Given the description of an element on the screen output the (x, y) to click on. 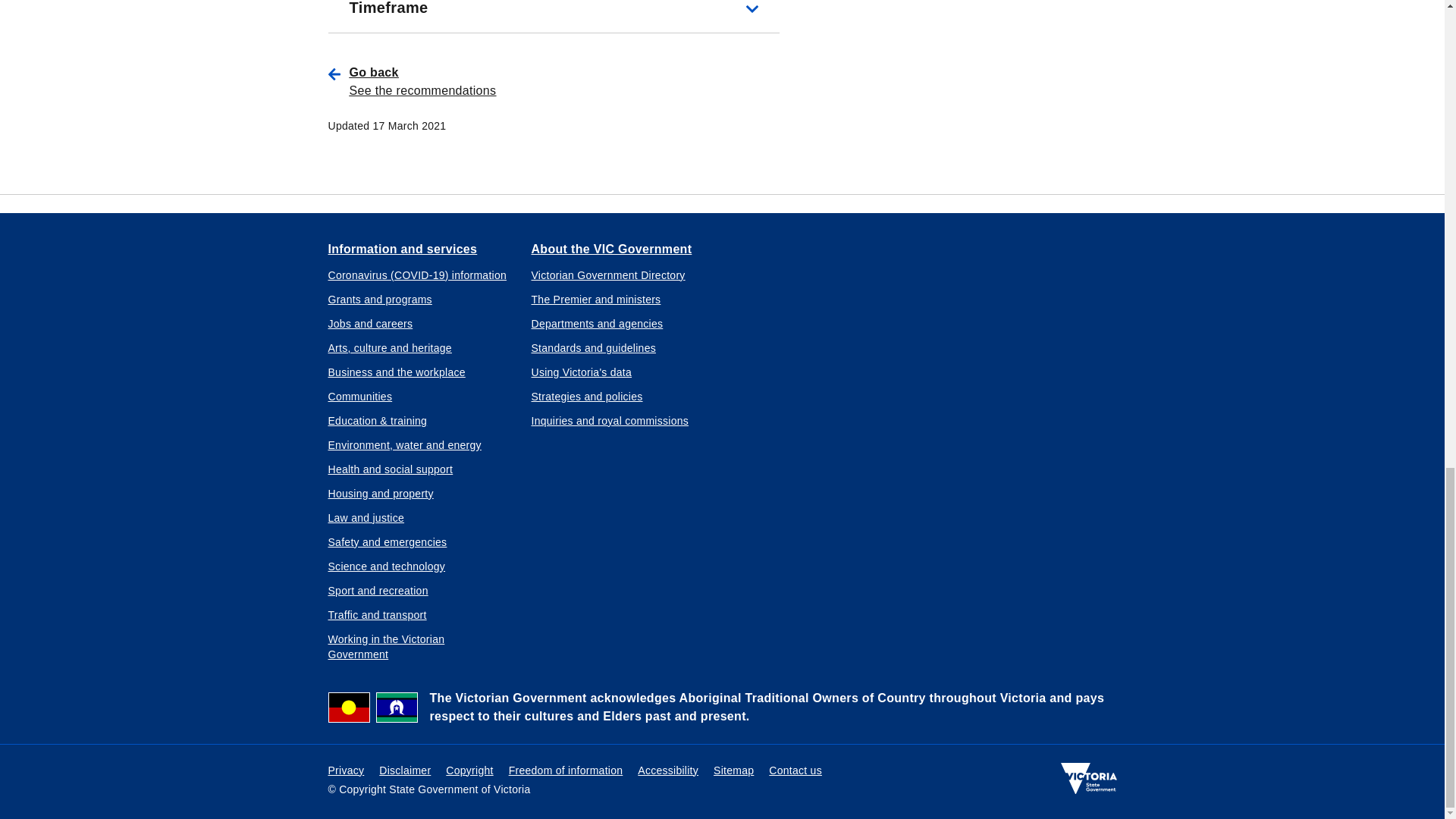
Standards and guidelines (593, 347)
Victorian Government Directory (607, 274)
Departments and agencies (596, 323)
Business and the workplace (395, 372)
Go back See the recommendations (563, 81)
Law and justice (365, 517)
Jobs and careers (369, 323)
Traffic and transport (376, 614)
Sport and recreation (377, 590)
Arts, culture and heritage (389, 347)
Information and services (402, 249)
Health and social support (389, 468)
Grants and programs (378, 299)
About the VIC Government (611, 249)
The Premier and ministers (596, 299)
